Given the description of an element on the screen output the (x, y) to click on. 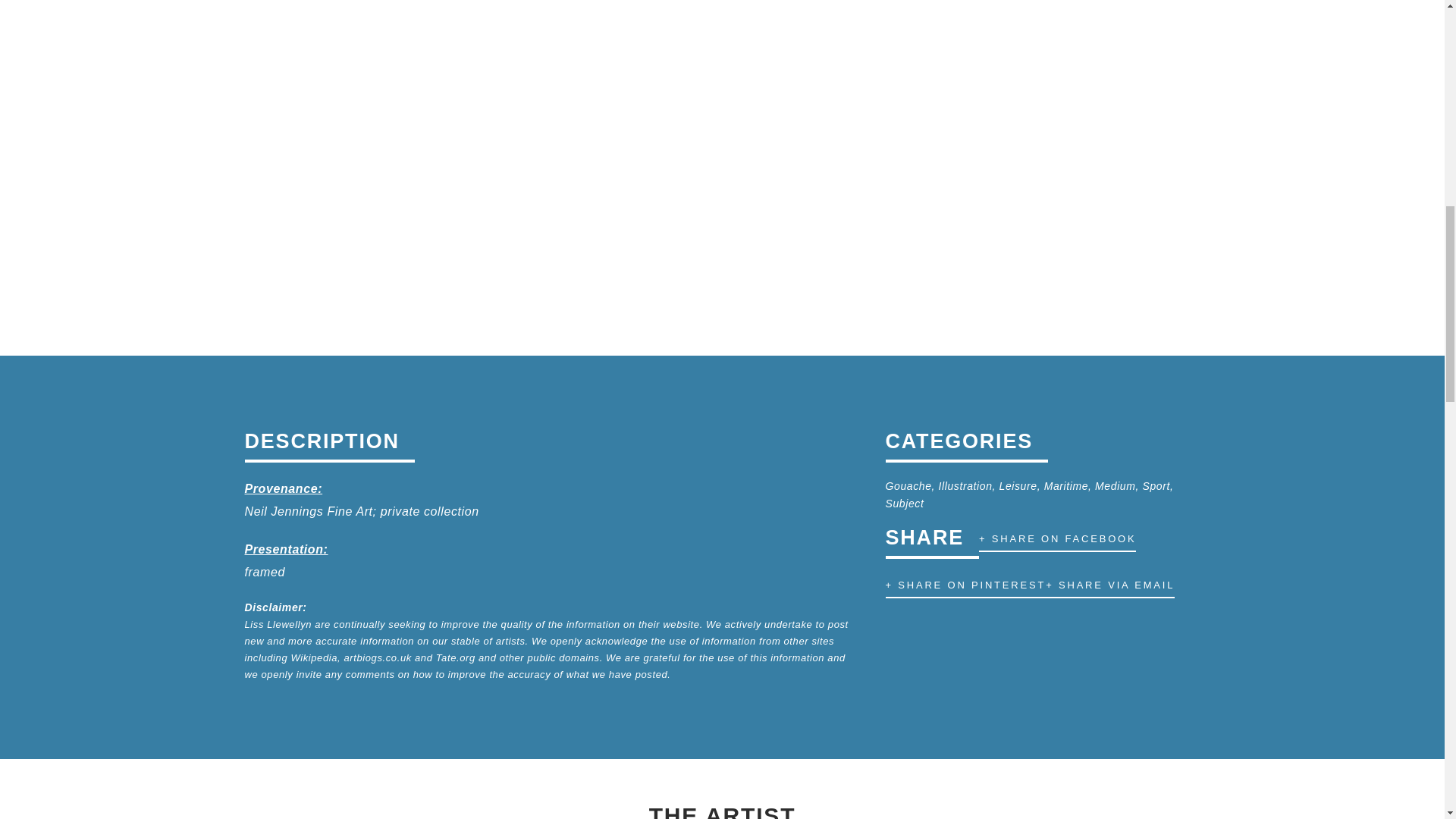
Maritime (1065, 485)
Leisure (1017, 485)
Illustration (965, 485)
Gouache (908, 485)
